Given the description of an element on the screen output the (x, y) to click on. 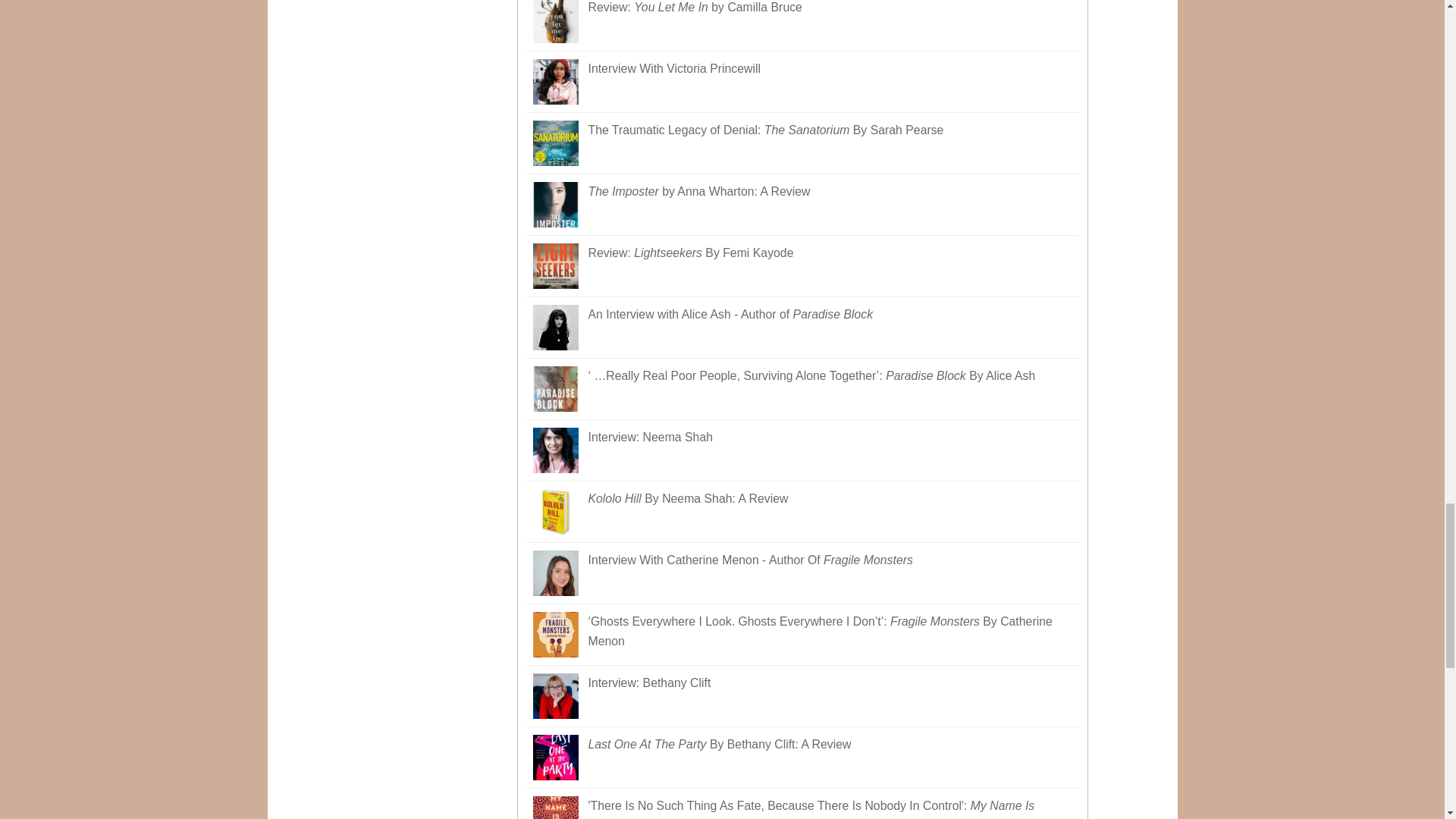
Interview: Neema Shah (801, 450)
An Interview with Alice Ash - Author of Paradise Block (801, 327)
Last One At The Party By Bethany Clift: A Review (801, 757)
Kololo Hill By Neema Shah: A Review (801, 511)
Interview: Bethany Clift (801, 696)
The Imposter by Anna Wharton: A Review (801, 204)
Review: You Let Me In by Camilla Bruce (801, 25)
Review: Lightseekers By Femi Kayode (801, 266)
Interview With Victoria Princewill (801, 82)
Interview With Catherine Menon - Author Of Fragile Monsters (801, 573)
